Given the description of an element on the screen output the (x, y) to click on. 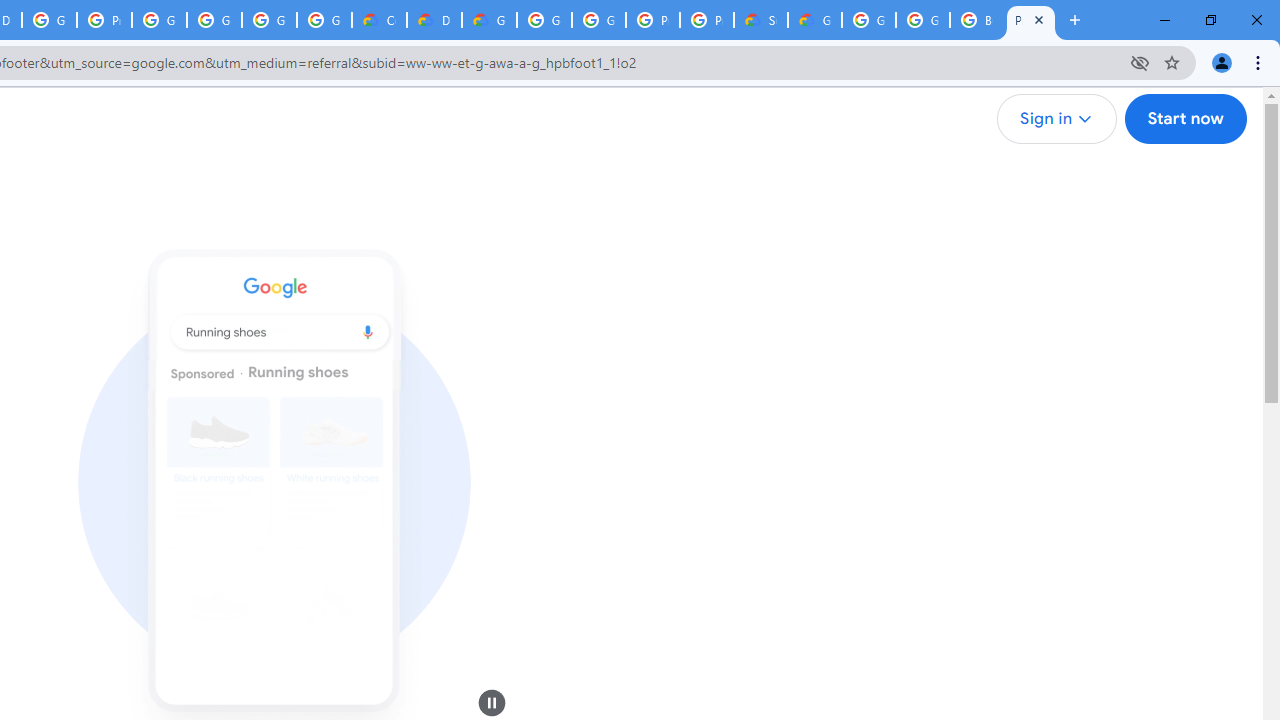
Support Hub | Google Cloud (760, 20)
Google Cloud Service Health (815, 20)
Google Workspace - Specific Terms (324, 20)
